Given the description of an element on the screen output the (x, y) to click on. 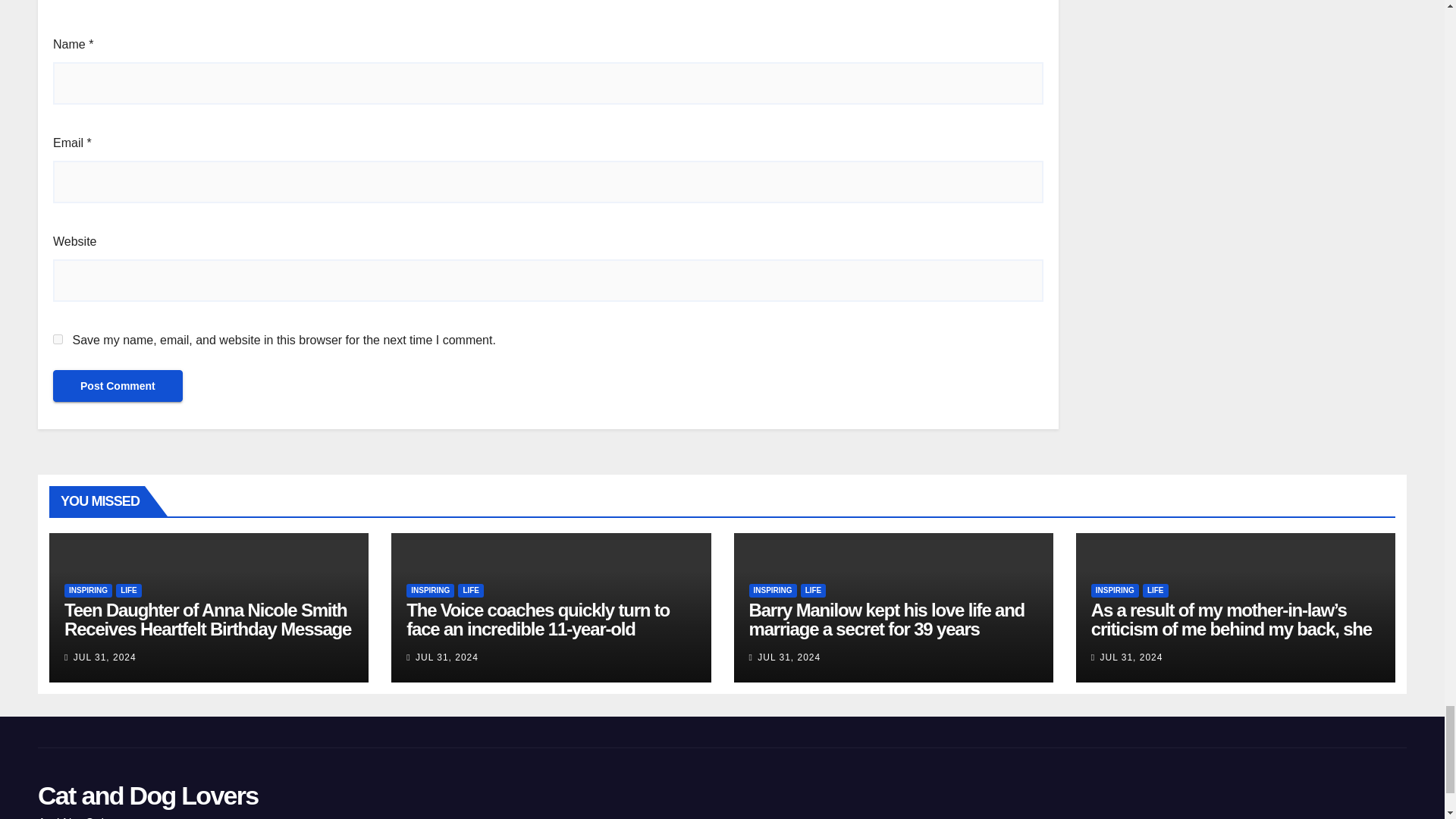
Post Comment (117, 386)
yes (57, 338)
Post Comment (117, 386)
